Given the description of an element on the screen output the (x, y) to click on. 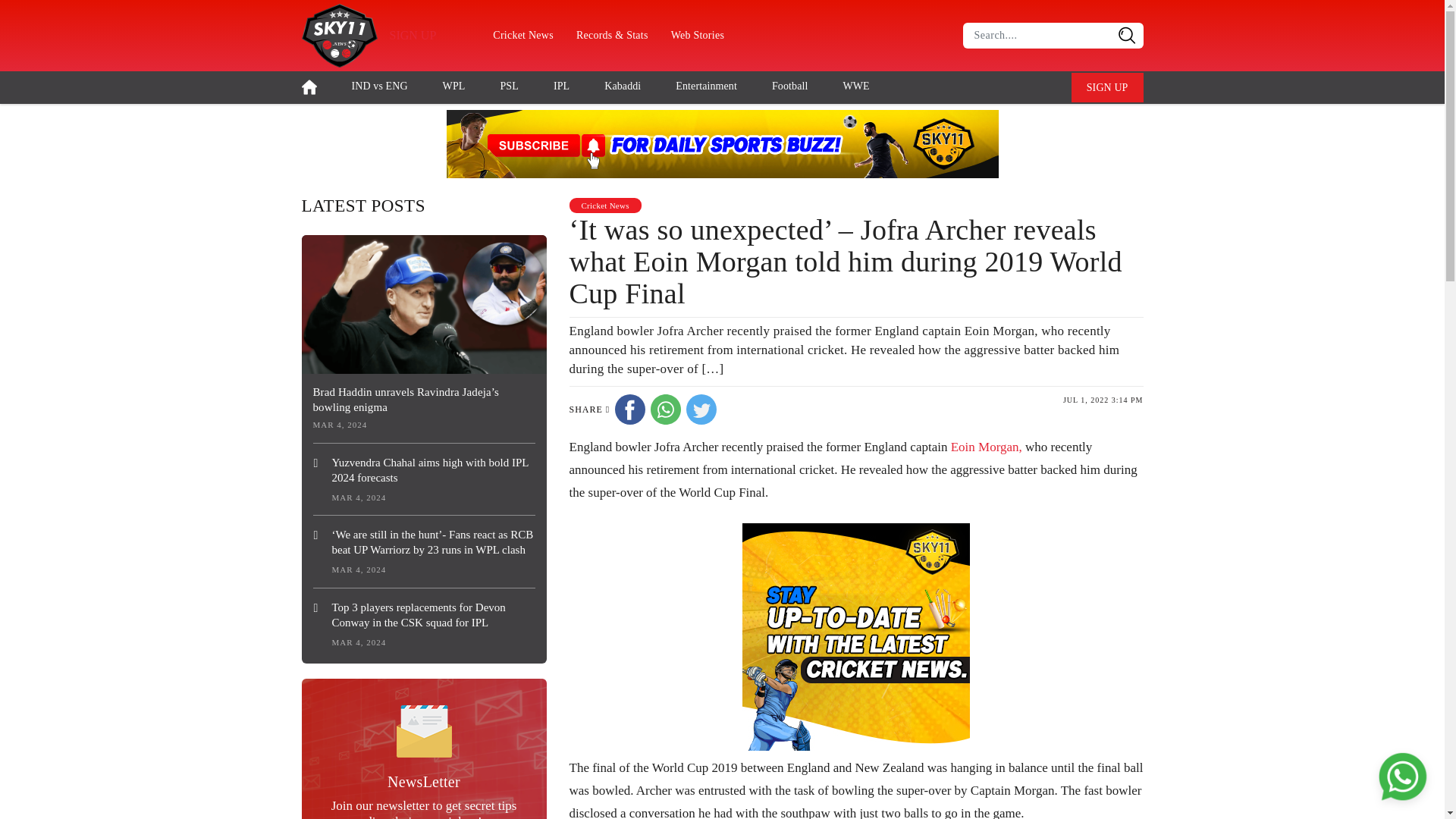
Web Stories (697, 35)
WPL (453, 85)
Cricket News (522, 35)
Entertainment (705, 85)
Cricket News (604, 204)
IPL (561, 85)
Football (789, 85)
WWE (856, 85)
Kabaddi (622, 85)
SIGN UP (413, 35)
PSL (508, 85)
Eoin Morgan, (986, 446)
SIGN UP (1106, 87)
Yuzvendra Chahal aims high with bold IPL 2024 forecasts (423, 470)
